Given the description of an element on the screen output the (x, y) to click on. 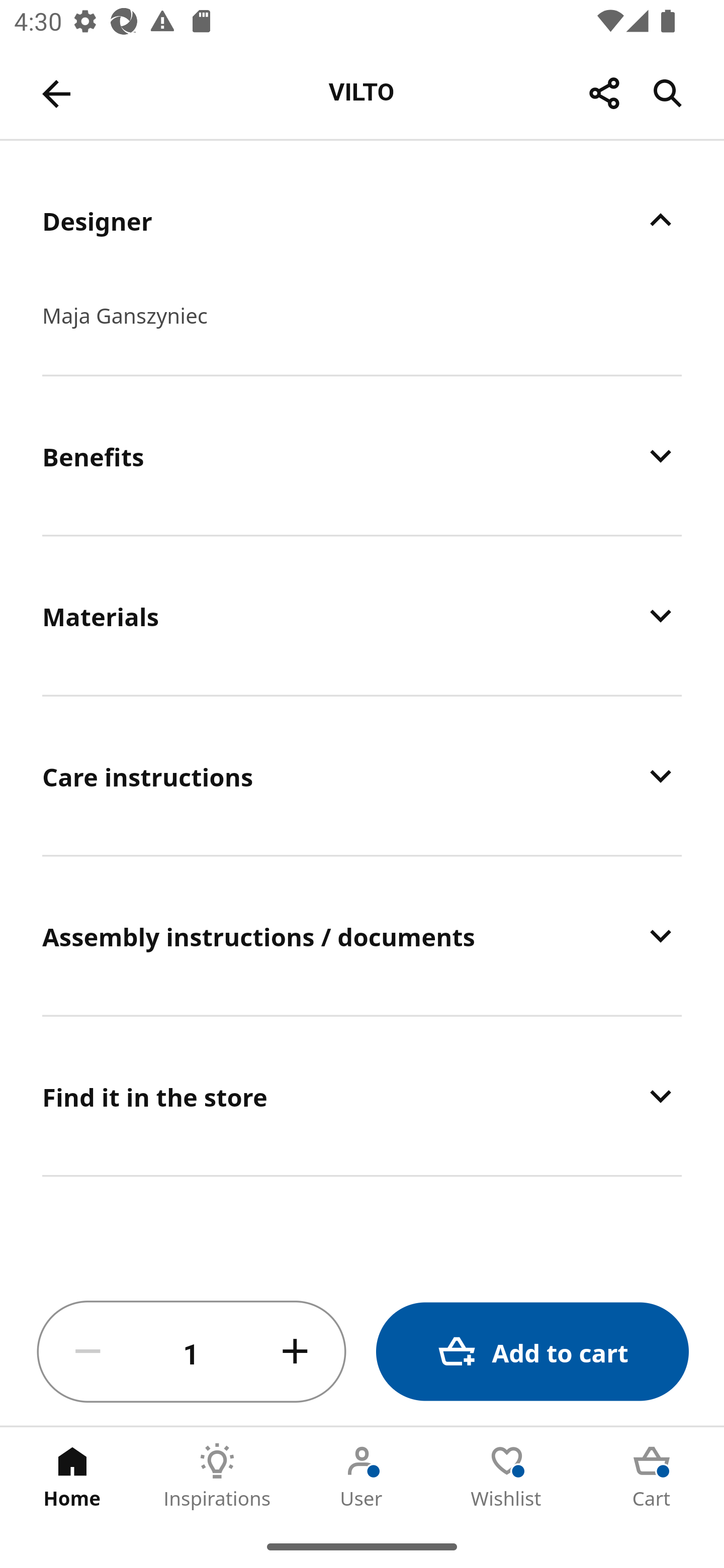
Designer (361, 219)
Benefits (361, 455)
Materials (361, 615)
Care instructions (361, 775)
Assembly instructions / documents (361, 934)
Find it in the store (361, 1095)
Add to cart (531, 1352)
1 (191, 1352)
Home
Tab 1 of 5 (72, 1476)
Inspirations
Tab 2 of 5 (216, 1476)
User
Tab 3 of 5 (361, 1476)
Wishlist
Tab 4 of 5 (506, 1476)
Cart
Tab 5 of 5 (651, 1476)
